Given the description of an element on the screen output the (x, y) to click on. 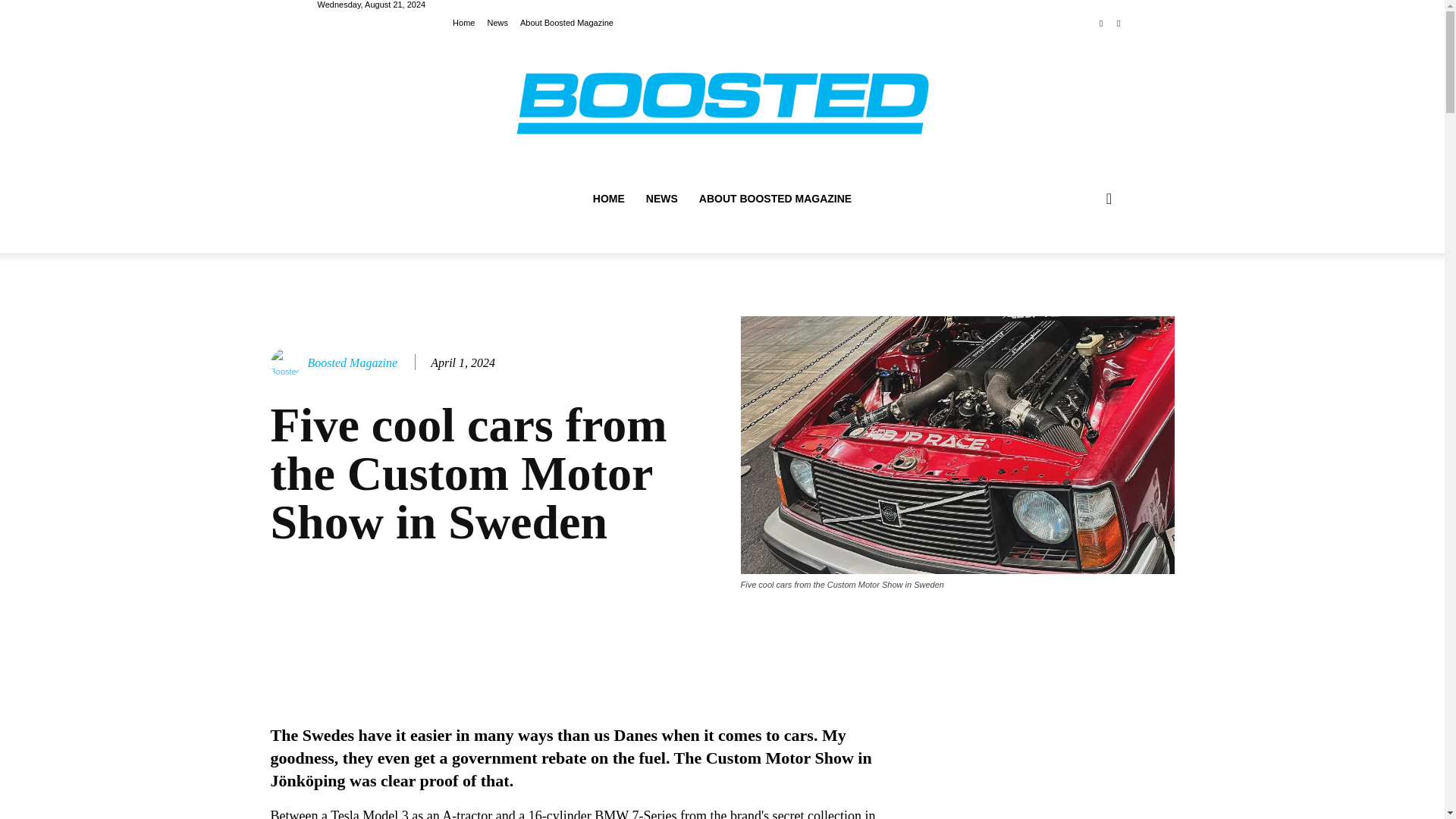
ABOUT BOOSTED MAGAZINE (774, 198)
NEWS (661, 198)
Instagram (1117, 23)
Home (463, 22)
Facebook (1101, 23)
HOME (608, 198)
Boosted Magazine (352, 362)
About Boosted Magazine (565, 22)
Boosted Magazine (286, 363)
News (497, 22)
